Given the description of an element on the screen output the (x, y) to click on. 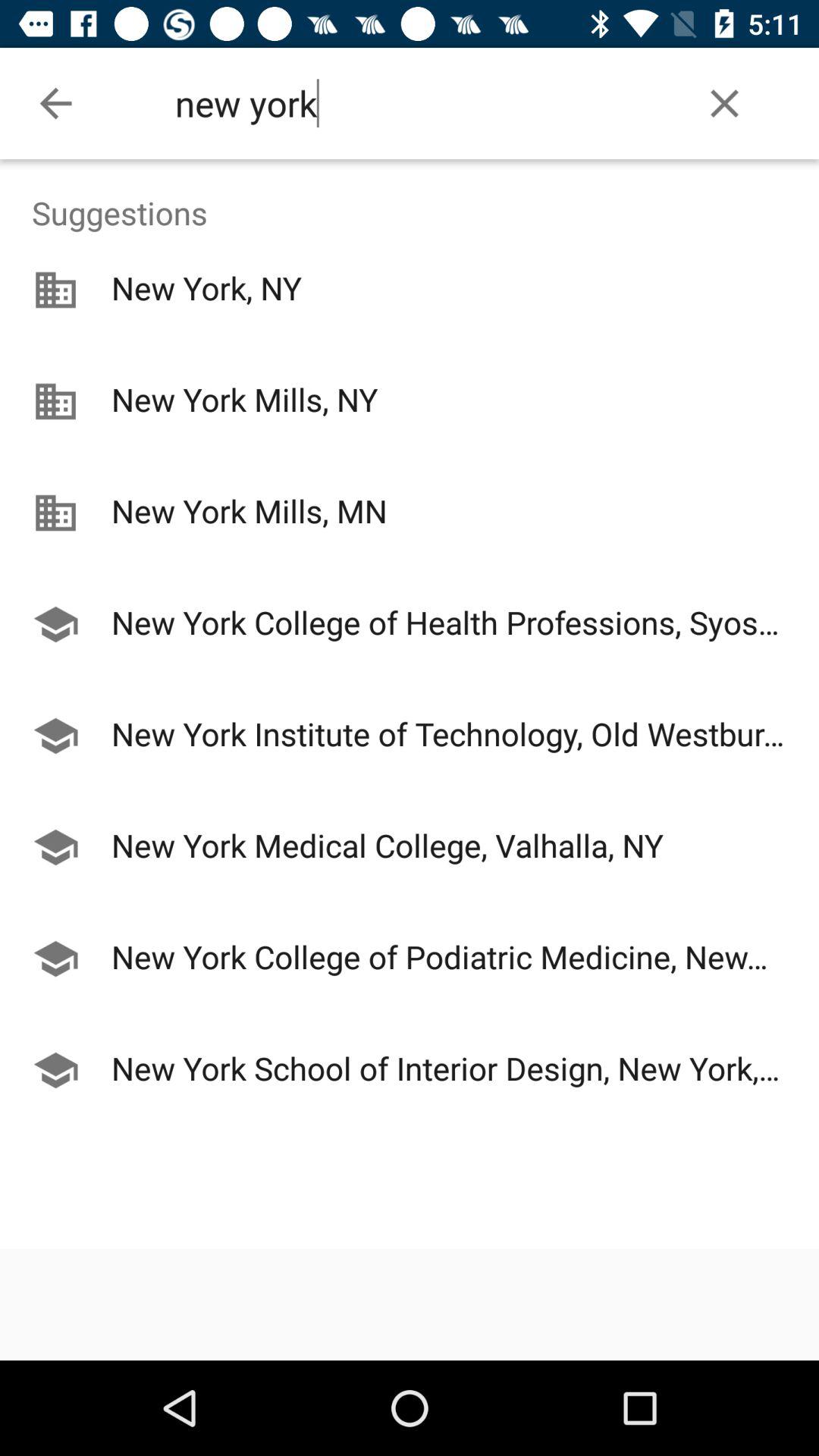
launch the item above the new york college item (409, 569)
